Given the description of an element on the screen output the (x, y) to click on. 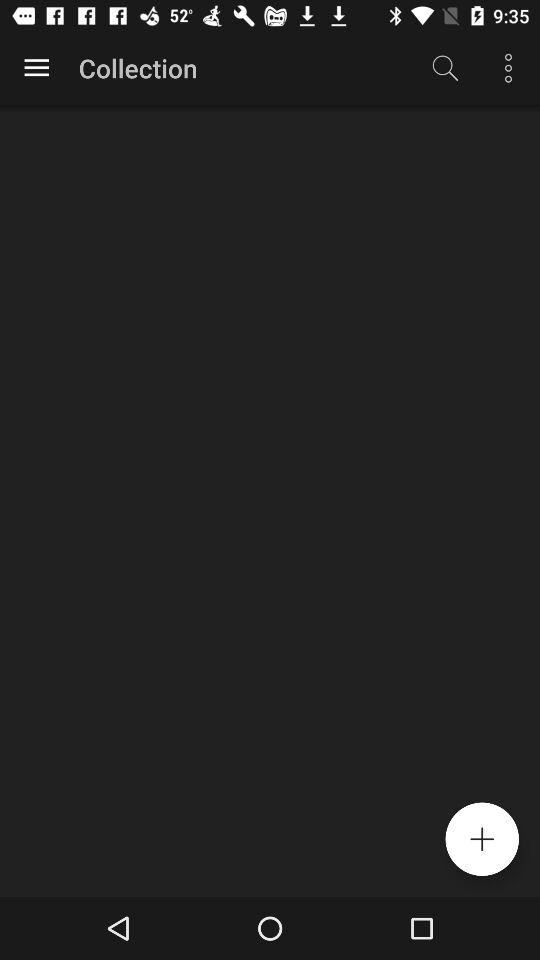
turn on icon at the bottom right corner (482, 839)
